Given the description of an element on the screen output the (x, y) to click on. 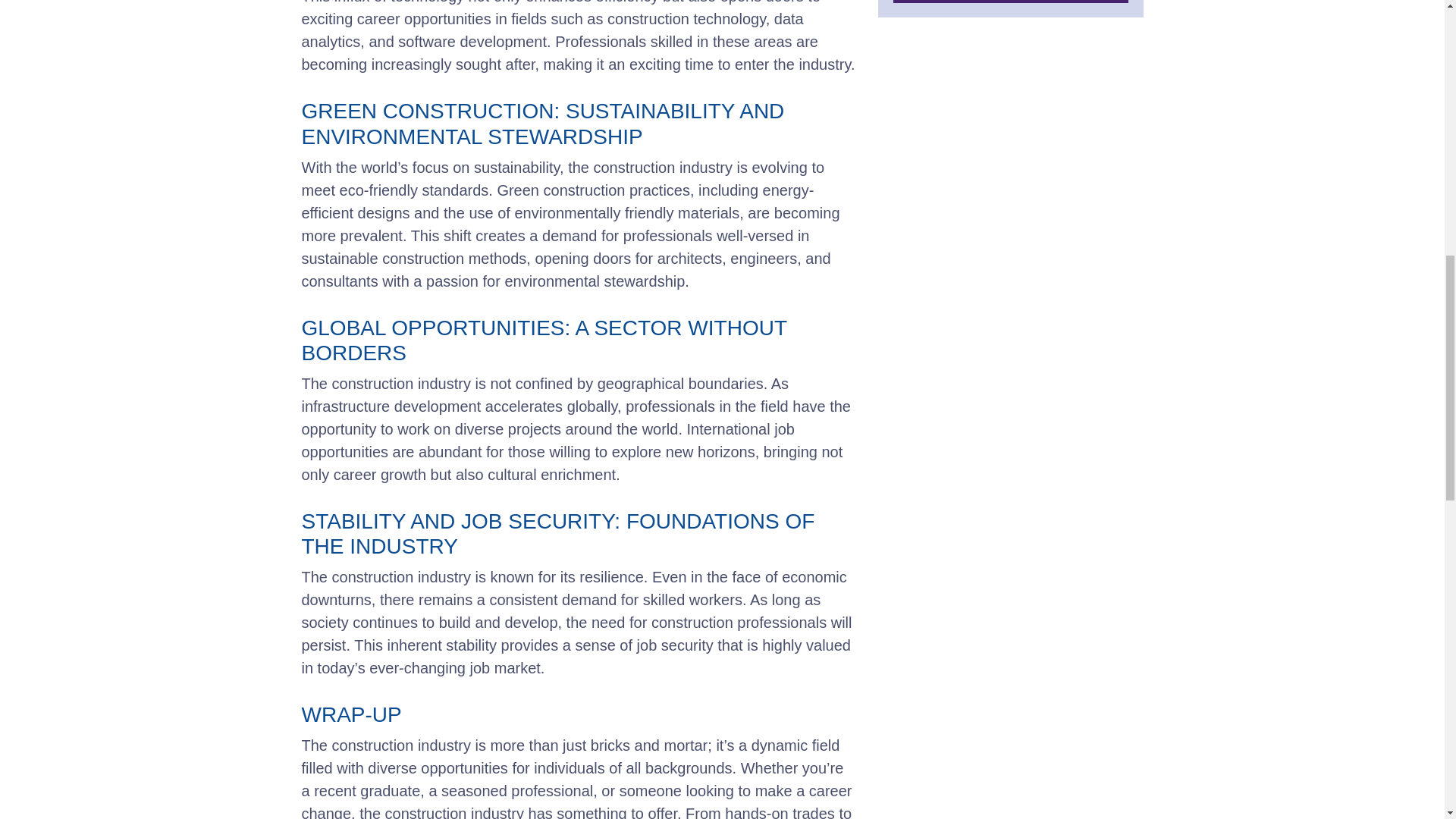
Submit (1010, 1)
